Given the description of an element on the screen output the (x, y) to click on. 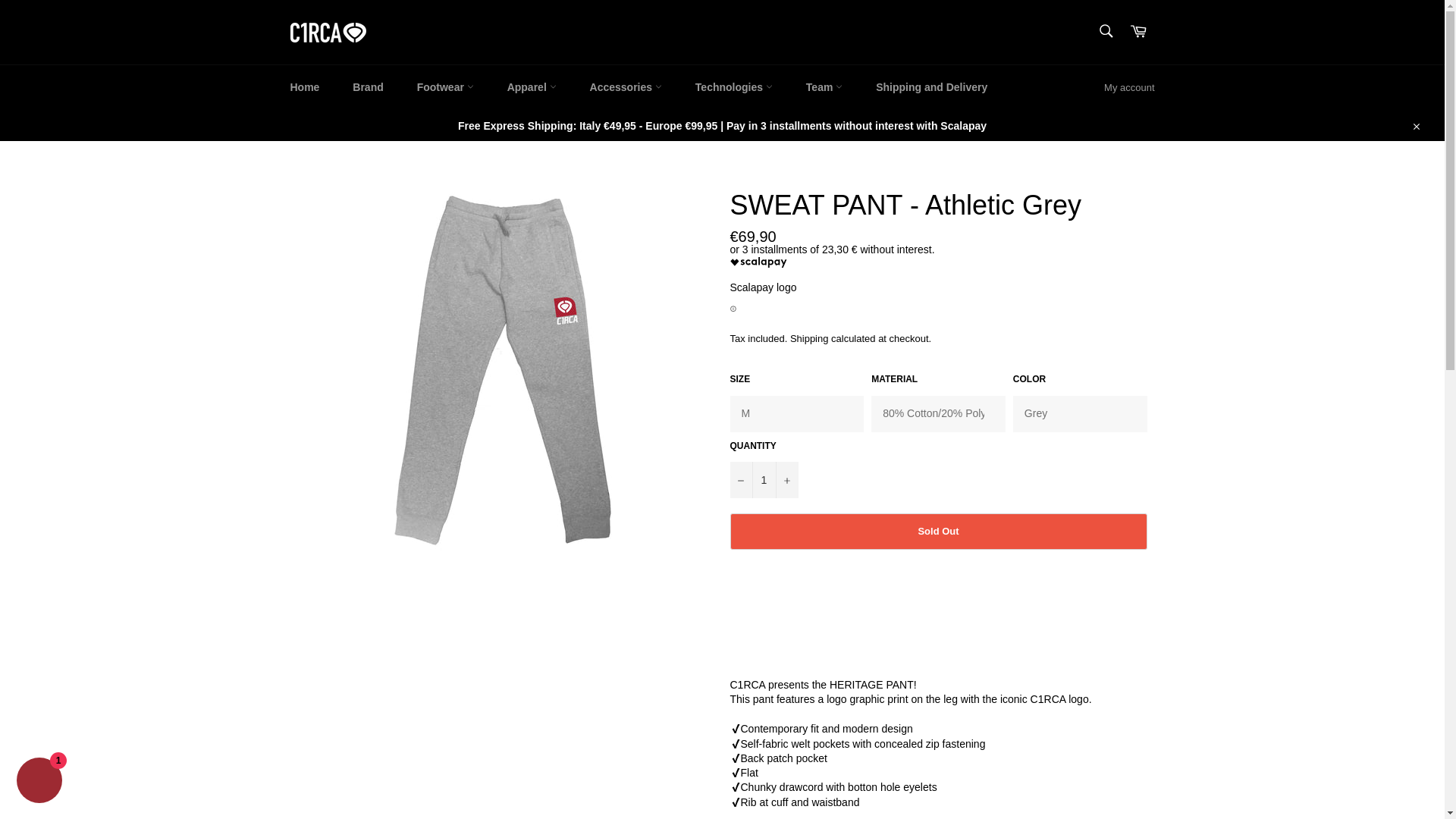
1 (763, 479)
Shopify online store chat (38, 781)
Cart (1138, 32)
Search (1104, 30)
